Given the description of an element on the screen output the (x, y) to click on. 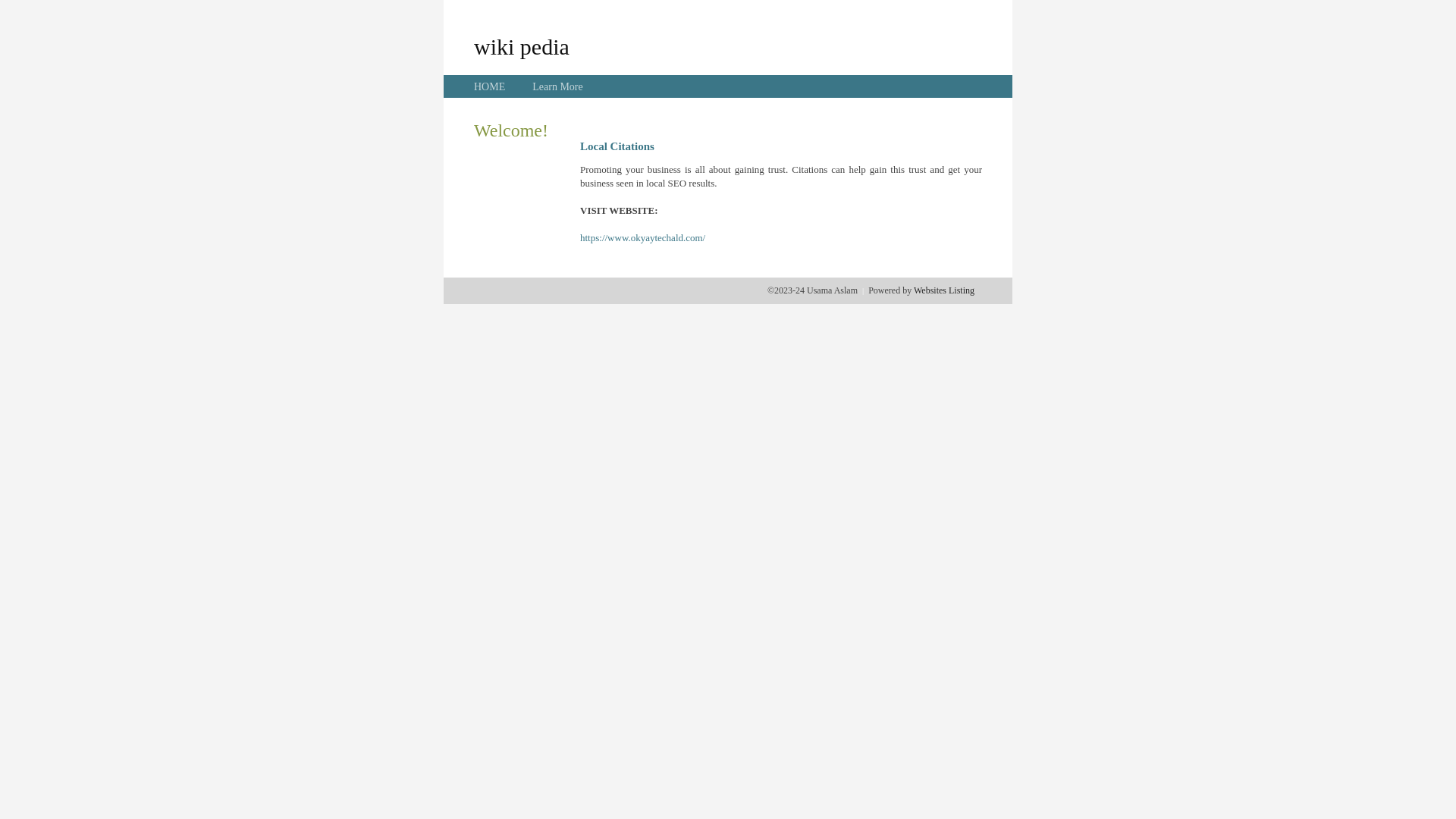
HOME Element type: text (489, 86)
https://www.okyaytechald.com/ Element type: text (642, 237)
wiki pedia Element type: text (521, 46)
Learn More Element type: text (557, 86)
Websites Listing Element type: text (943, 290)
